Given the description of an element on the screen output the (x, y) to click on. 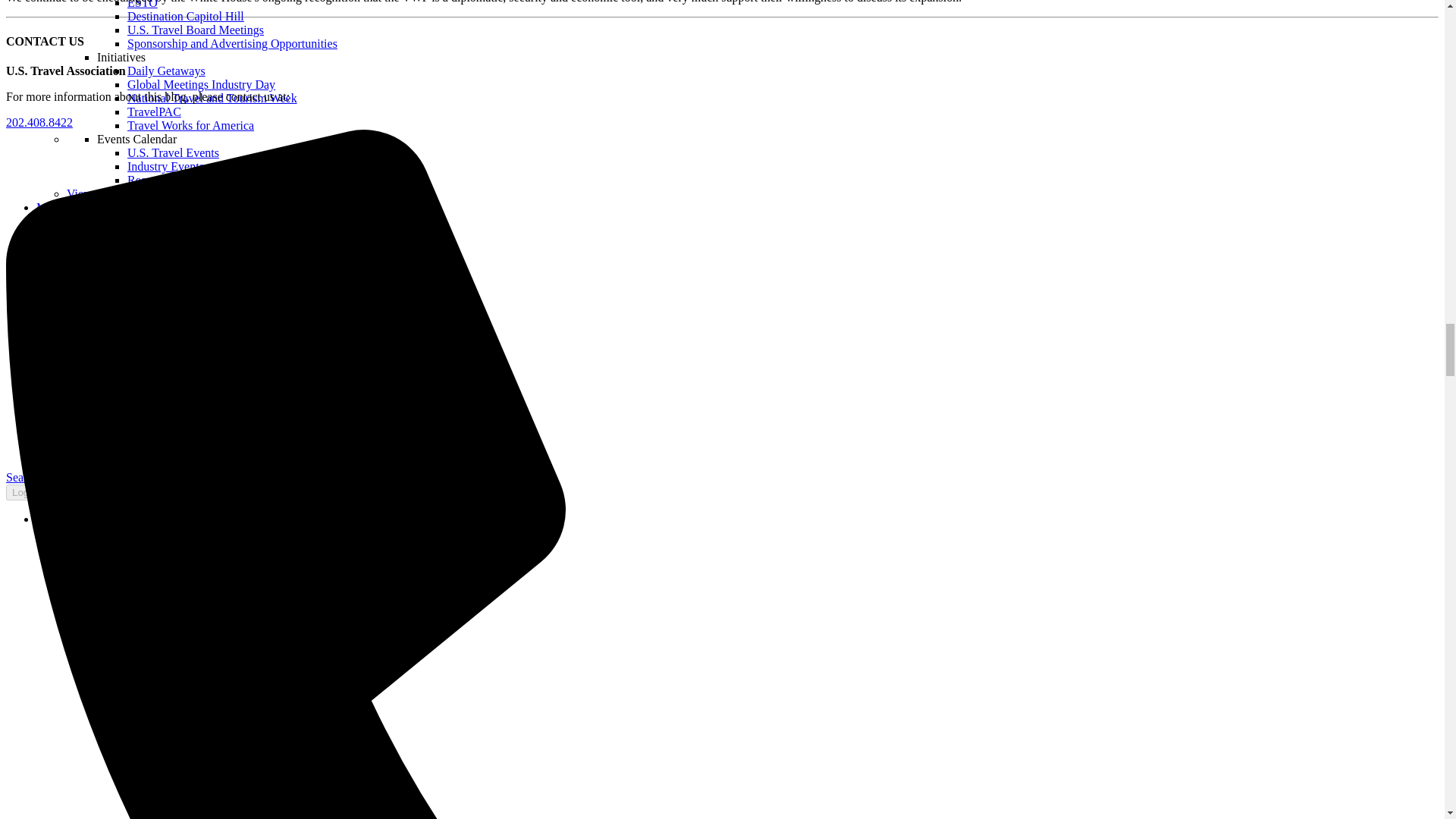
Login (24, 492)
